Given the description of an element on the screen output the (x, y) to click on. 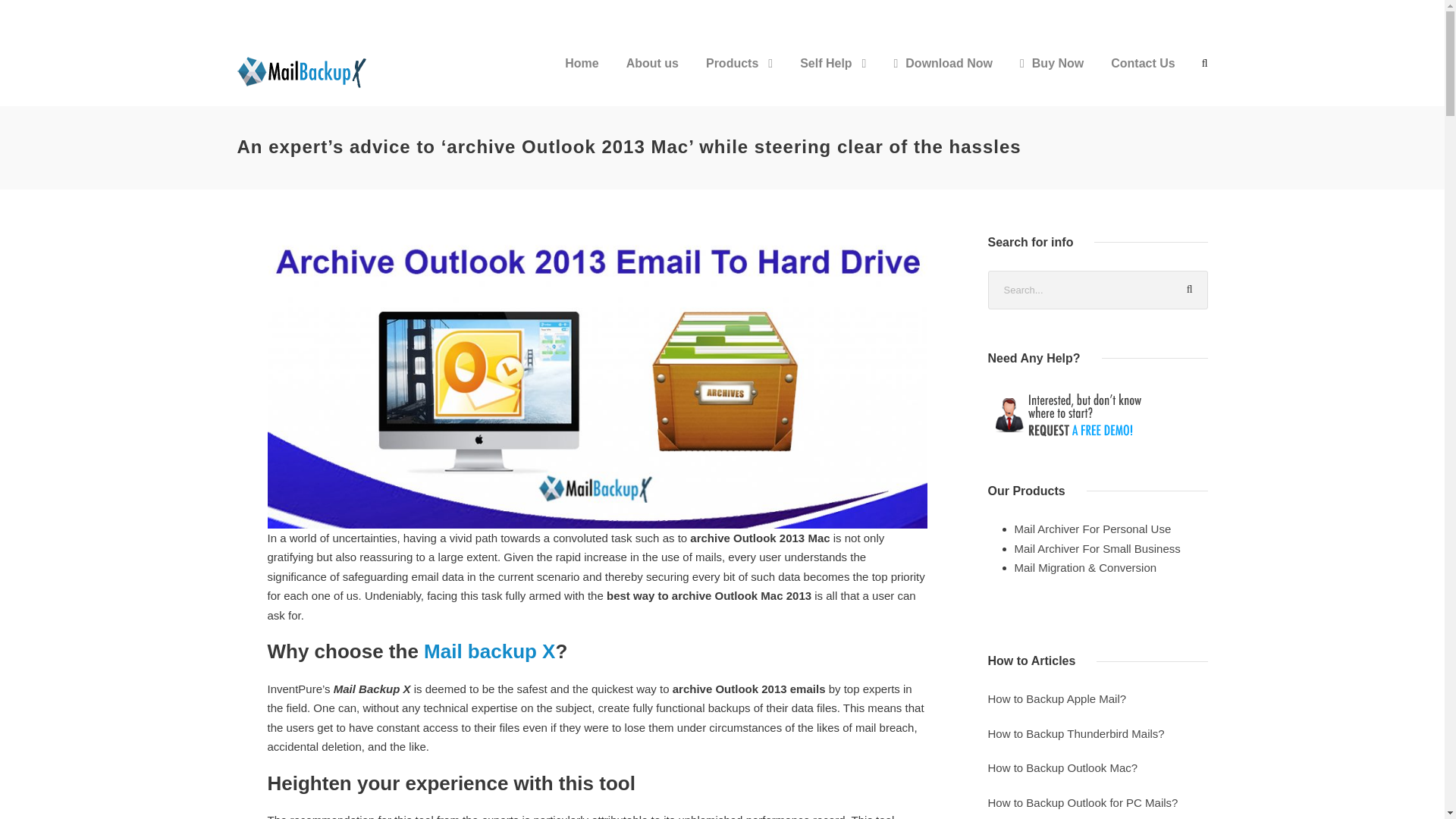
mailbackupx-logo (303, 71)
Mail Archiver For Personal Use (1093, 528)
Download Now (942, 76)
Buy Now (1051, 76)
Mail Archiver For Small Business (1097, 548)
Search (1188, 290)
Products (739, 76)
Contact Us (1142, 76)
About us (652, 76)
Request a Live Demo by our Experts (1097, 414)
Self Help (832, 76)
How to Backup Apple Mail?  (1058, 698)
Mail backup X (488, 650)
